Given the description of an element on the screen output the (x, y) to click on. 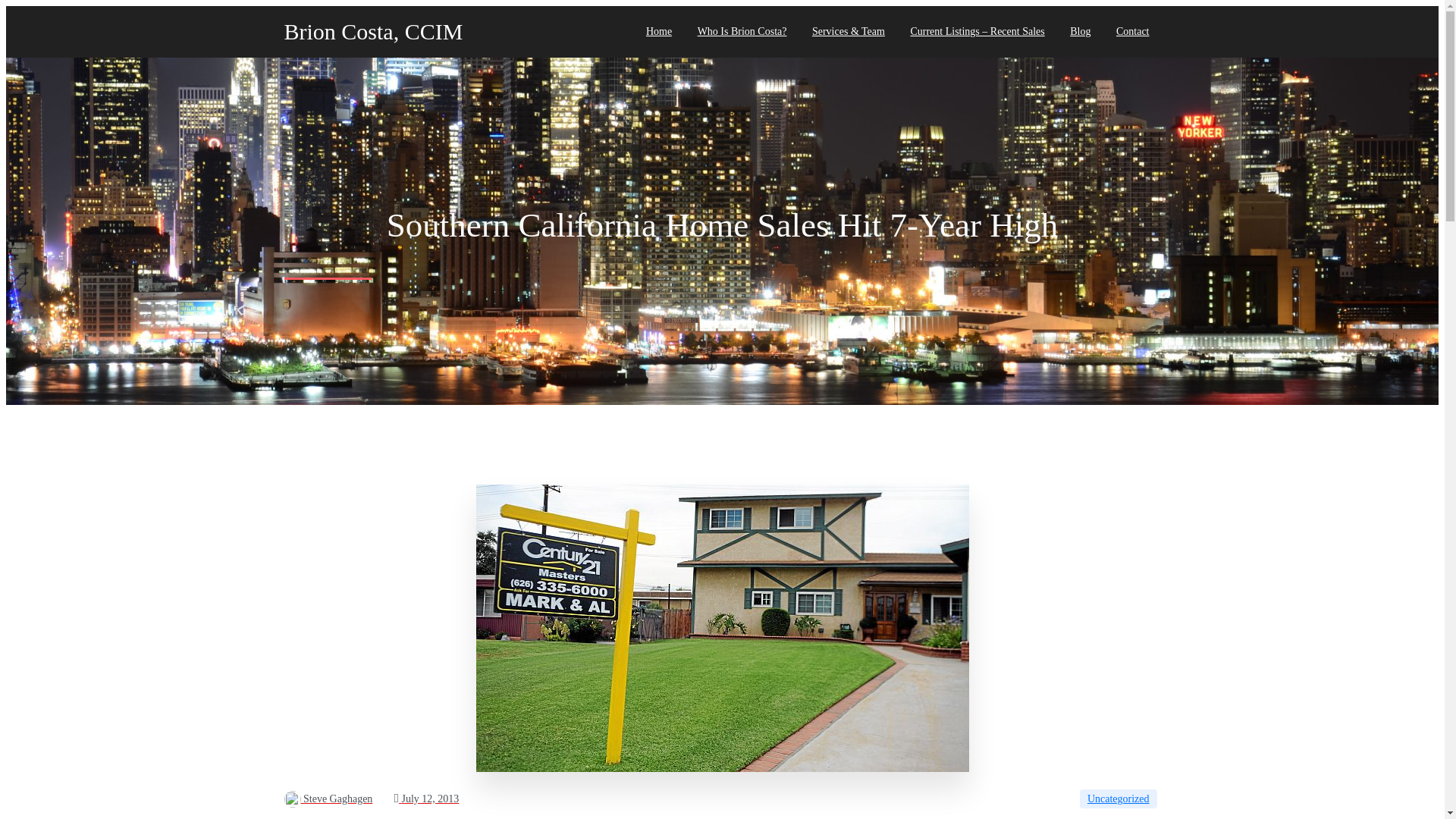
Brion Costa, CCIM (409, 31)
Contact (1132, 31)
Blog (1080, 31)
Who Is Brion Costa? (741, 31)
Home (658, 31)
July 12, 2013 (426, 798)
Uncategorized (1118, 798)
Steve Gaghagen (327, 798)
